Given the description of an element on the screen output the (x, y) to click on. 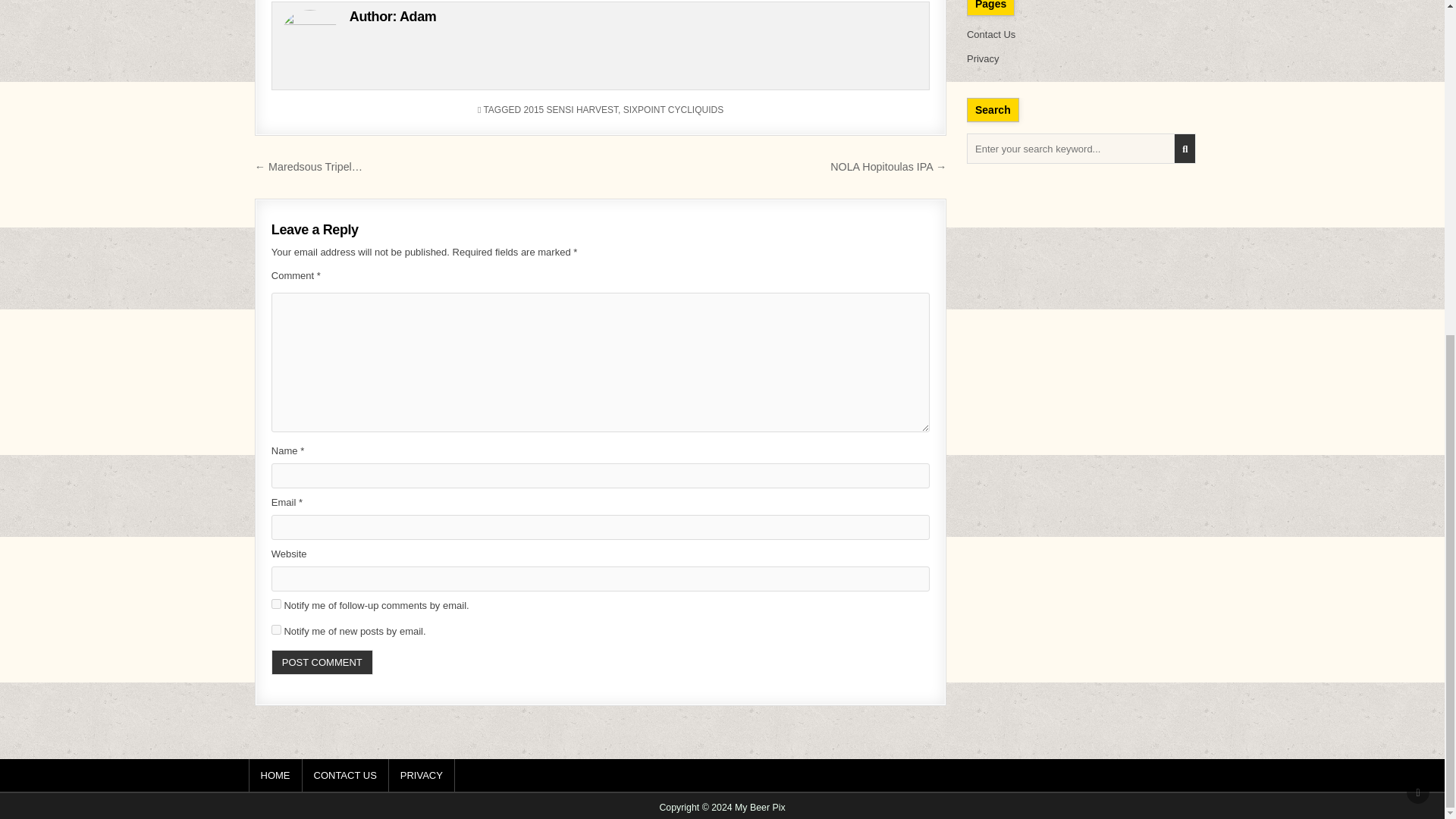
Post Comment (321, 662)
subscribe (275, 603)
SCROLL TO TOP (1417, 231)
subscribe (275, 629)
